Given the description of an element on the screen output the (x, y) to click on. 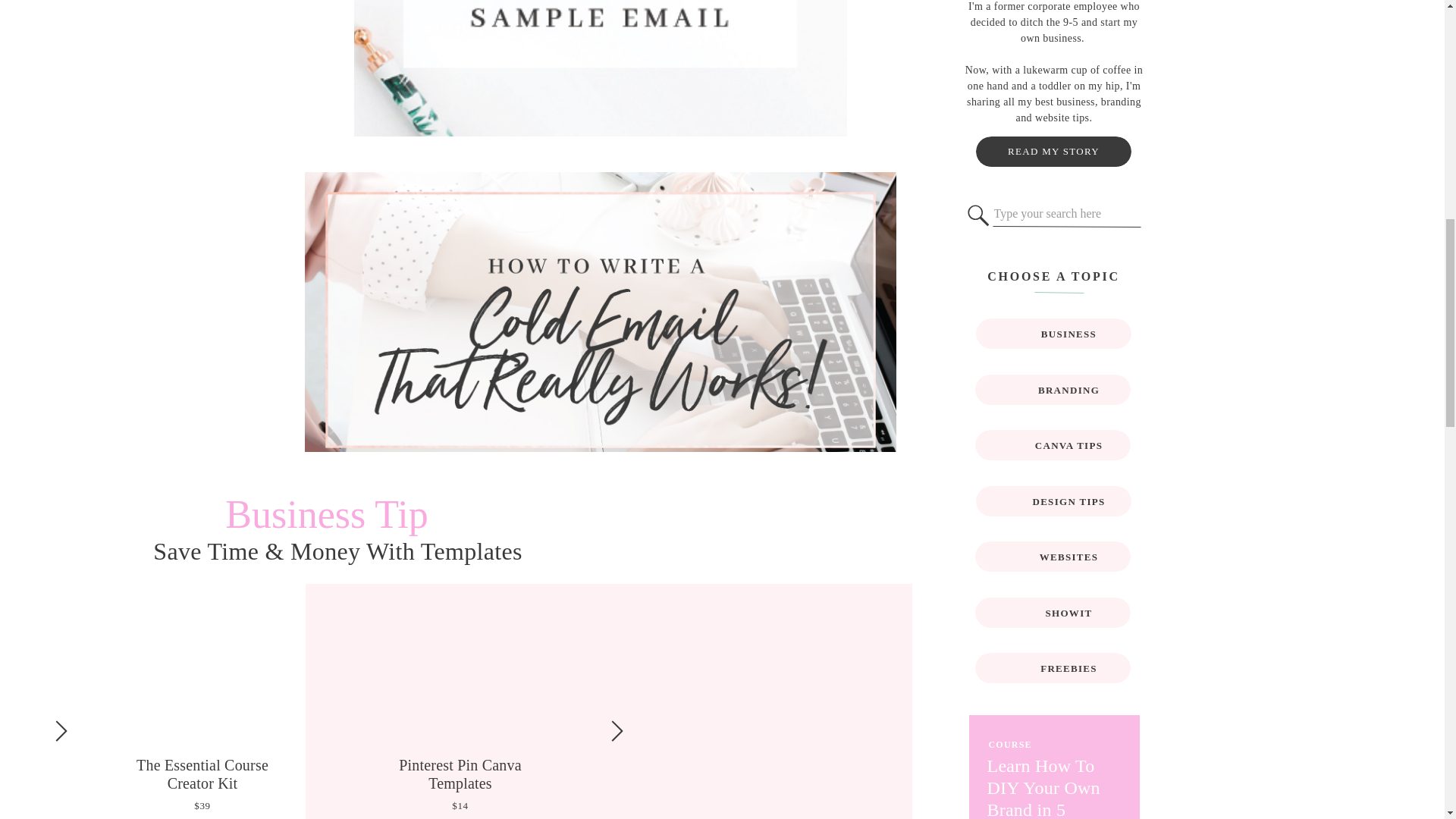
WEBSITES (1068, 556)
READ MY STORY (1054, 151)
CANVA TIPS (1068, 445)
DESIGN TIPS (1068, 502)
SHOWIT (1068, 613)
